Given the description of an element on the screen output the (x, y) to click on. 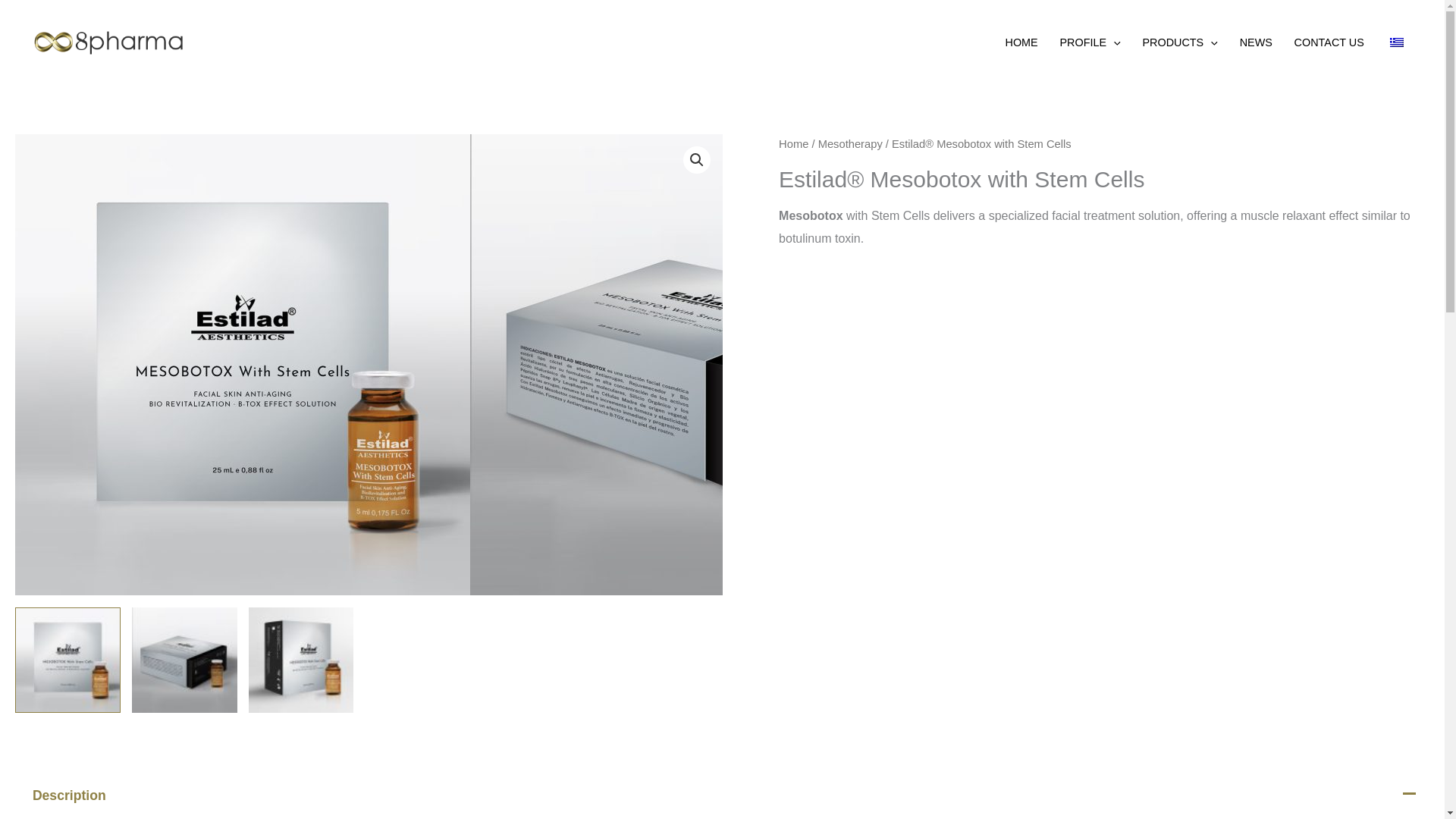
Mesotherapy (850, 143)
Greek (1396, 41)
Home (793, 143)
PROFILE (1089, 41)
CONTACT US (1328, 41)
HOME (1021, 41)
NEWS (1255, 41)
PRODUCTS (1179, 41)
